Given the description of an element on the screen output the (x, y) to click on. 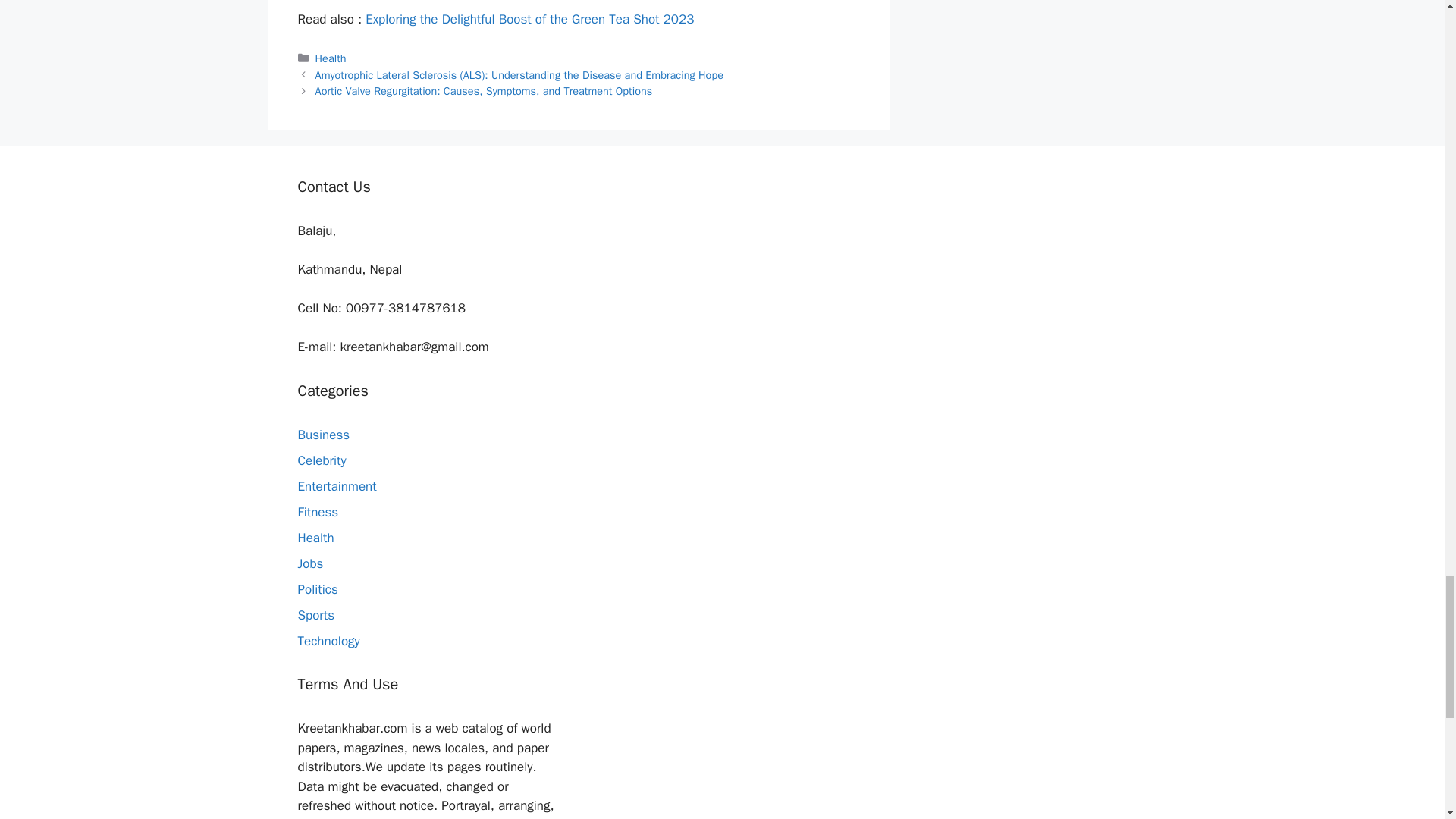
Health (330, 58)
Business (323, 434)
Celebrity (321, 460)
Exploring the Delightful Boost of the Green Tea Shot 2023 (529, 19)
Entertainment (336, 486)
